Given the description of an element on the screen output the (x, y) to click on. 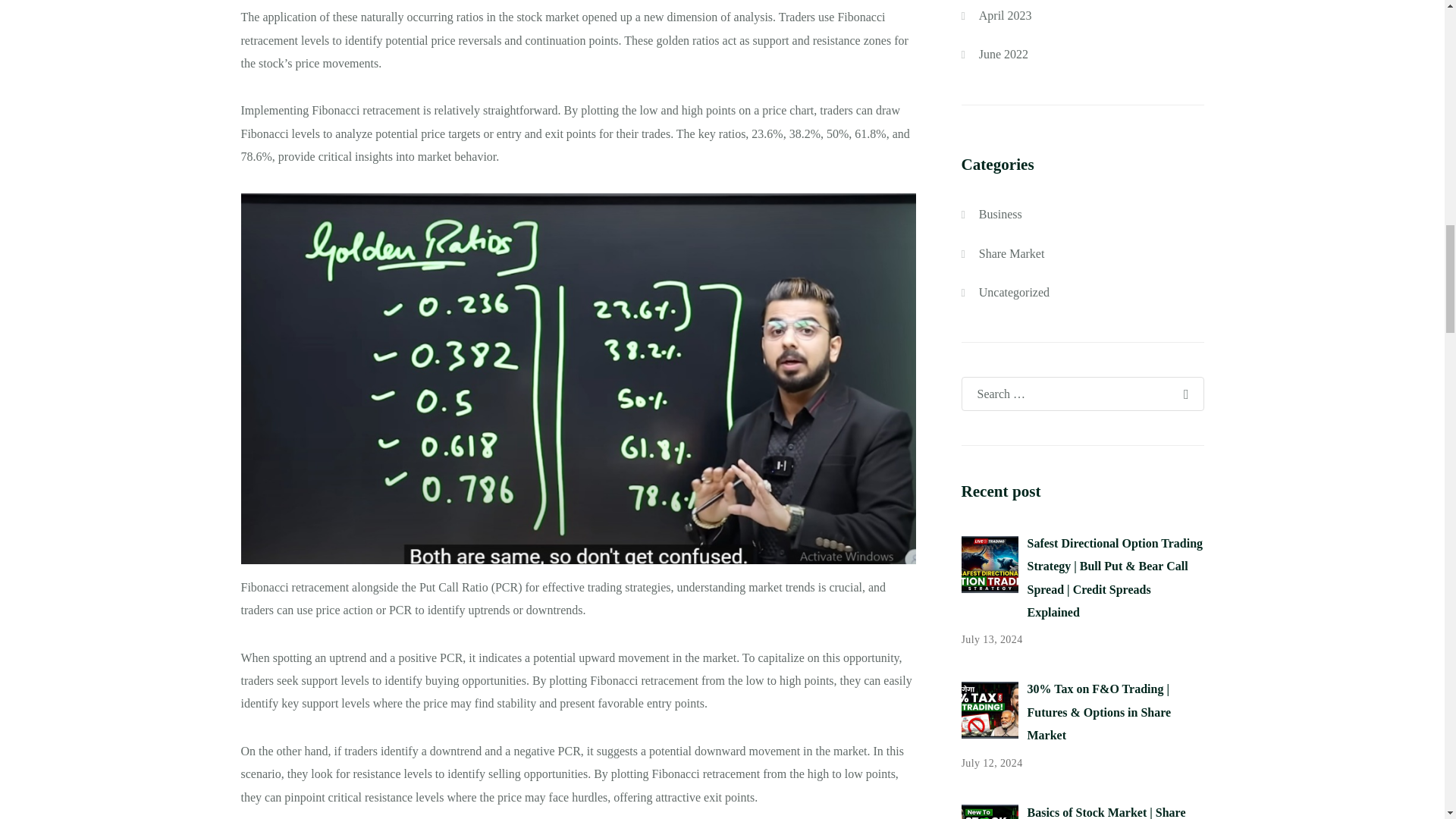
Search (1185, 392)
Search (1185, 392)
